Given the description of an element on the screen output the (x, y) to click on. 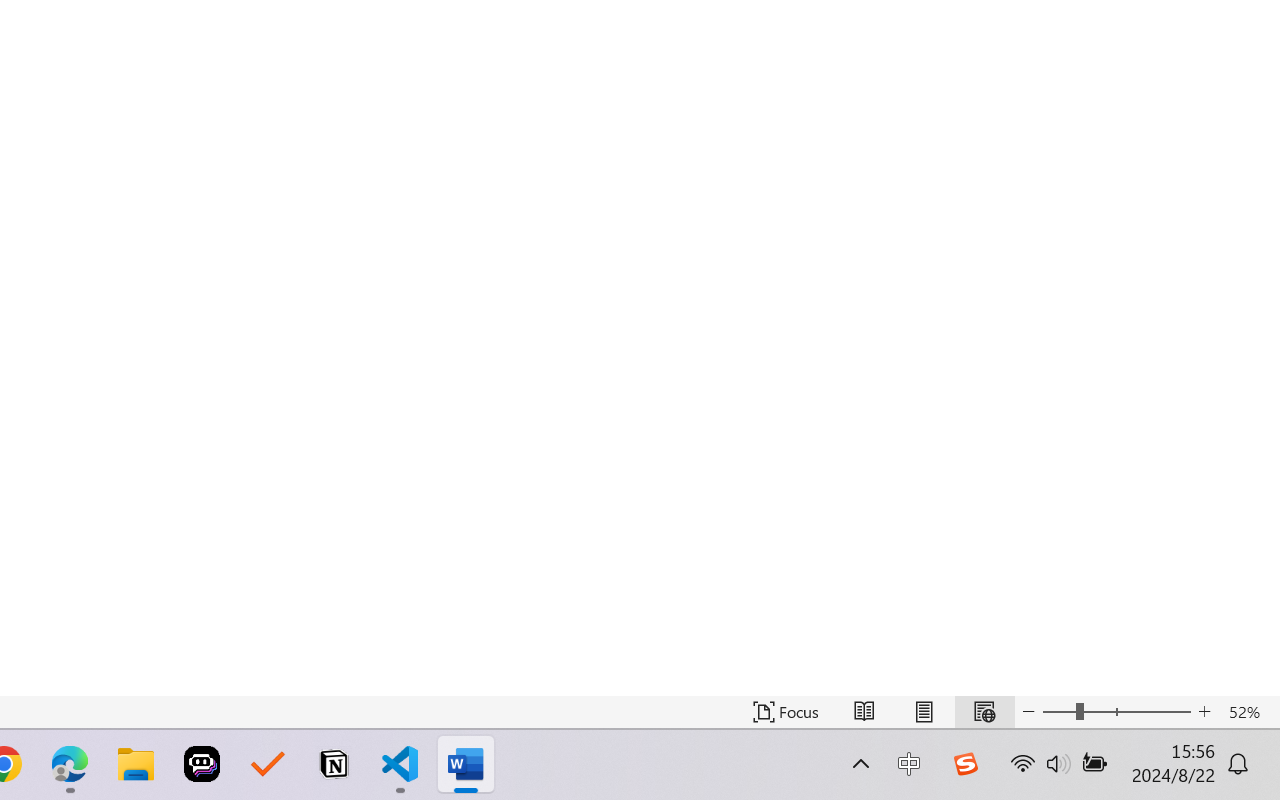
Zoom 52% (1249, 712)
Zoom (1116, 712)
Read Mode (864, 712)
Focus  (786, 712)
Zoom In (1204, 712)
Class: Image (965, 764)
Print Layout (924, 712)
Zoom Out (1058, 712)
Web Layout (984, 712)
